Given the description of an element on the screen output the (x, y) to click on. 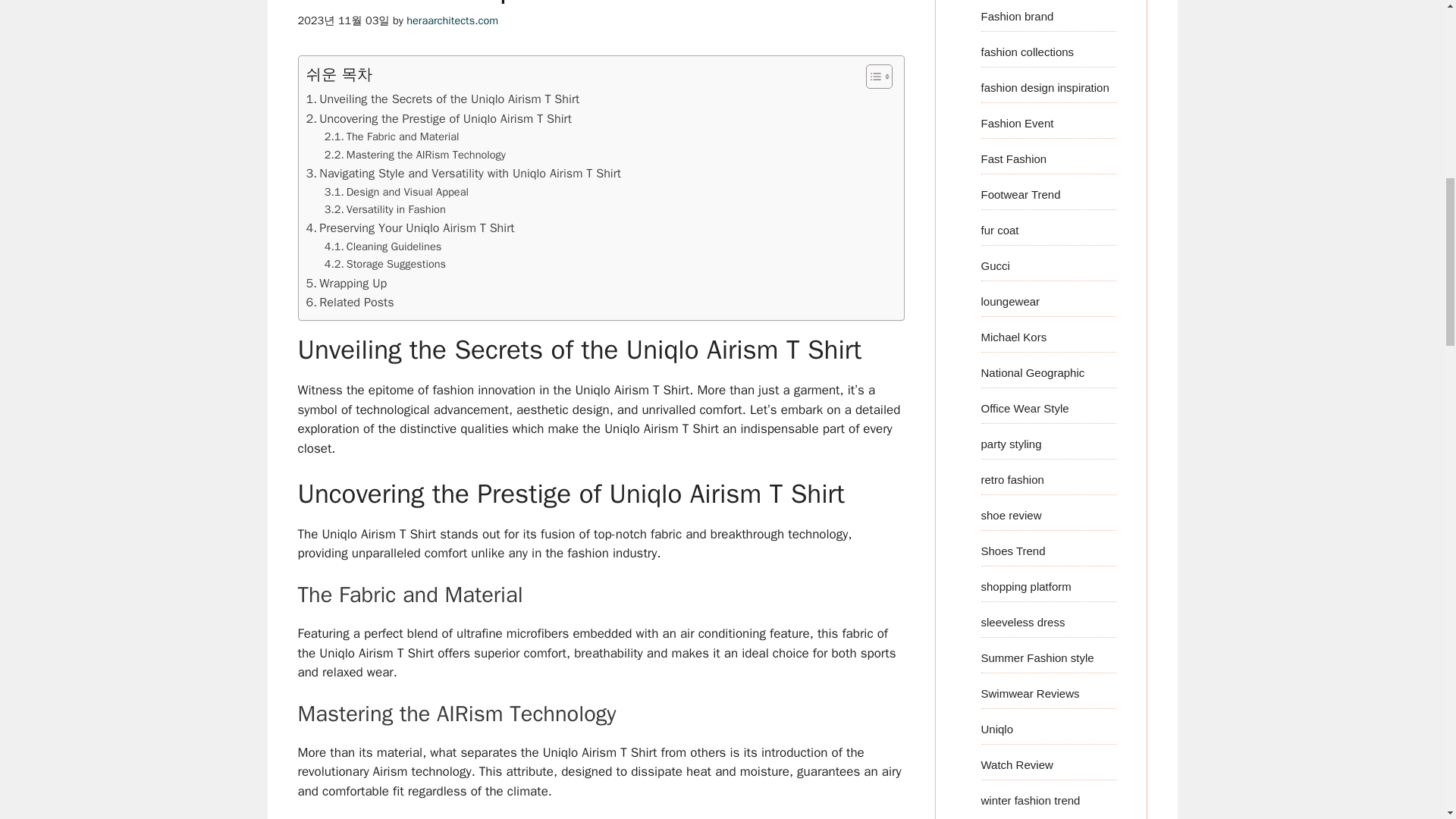
Preserving Your Uniqlo Airism T Shirt (410, 228)
Wrapping Up (346, 283)
The Fabric and Material (392, 136)
Cleaning Guidelines (383, 246)
Versatility in Fashion (384, 209)
Cleaning Guidelines (383, 246)
The Fabric and Material (392, 136)
Related Posts (349, 302)
Design and Visual Appeal (396, 191)
Unveiling the Secrets of the Uniqlo Airism T Shirt (442, 98)
